Given the description of an element on the screen output the (x, y) to click on. 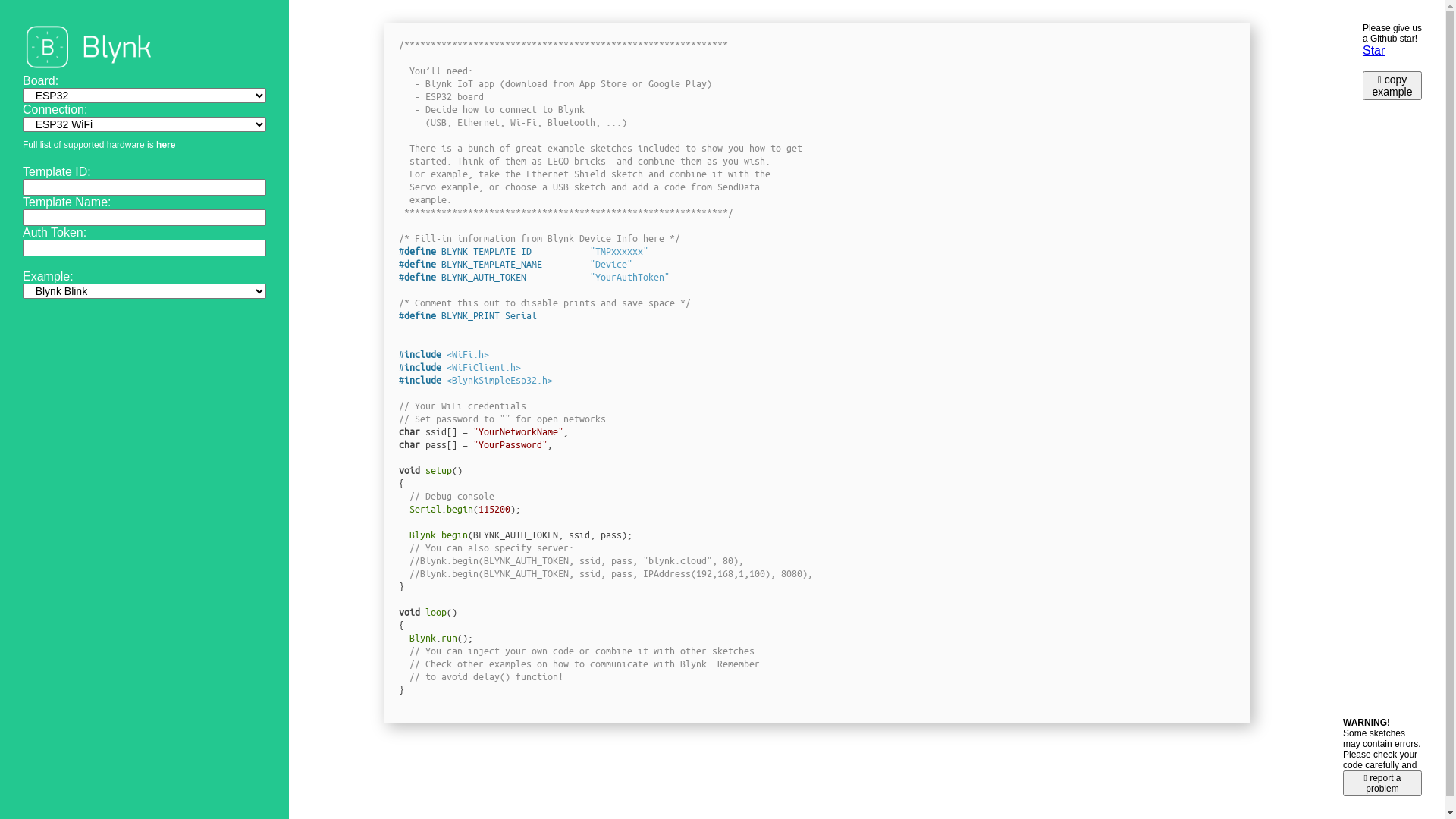
Star Element type: text (1373, 49)
here Element type: text (165, 144)
